Given the description of an element on the screen output the (x, y) to click on. 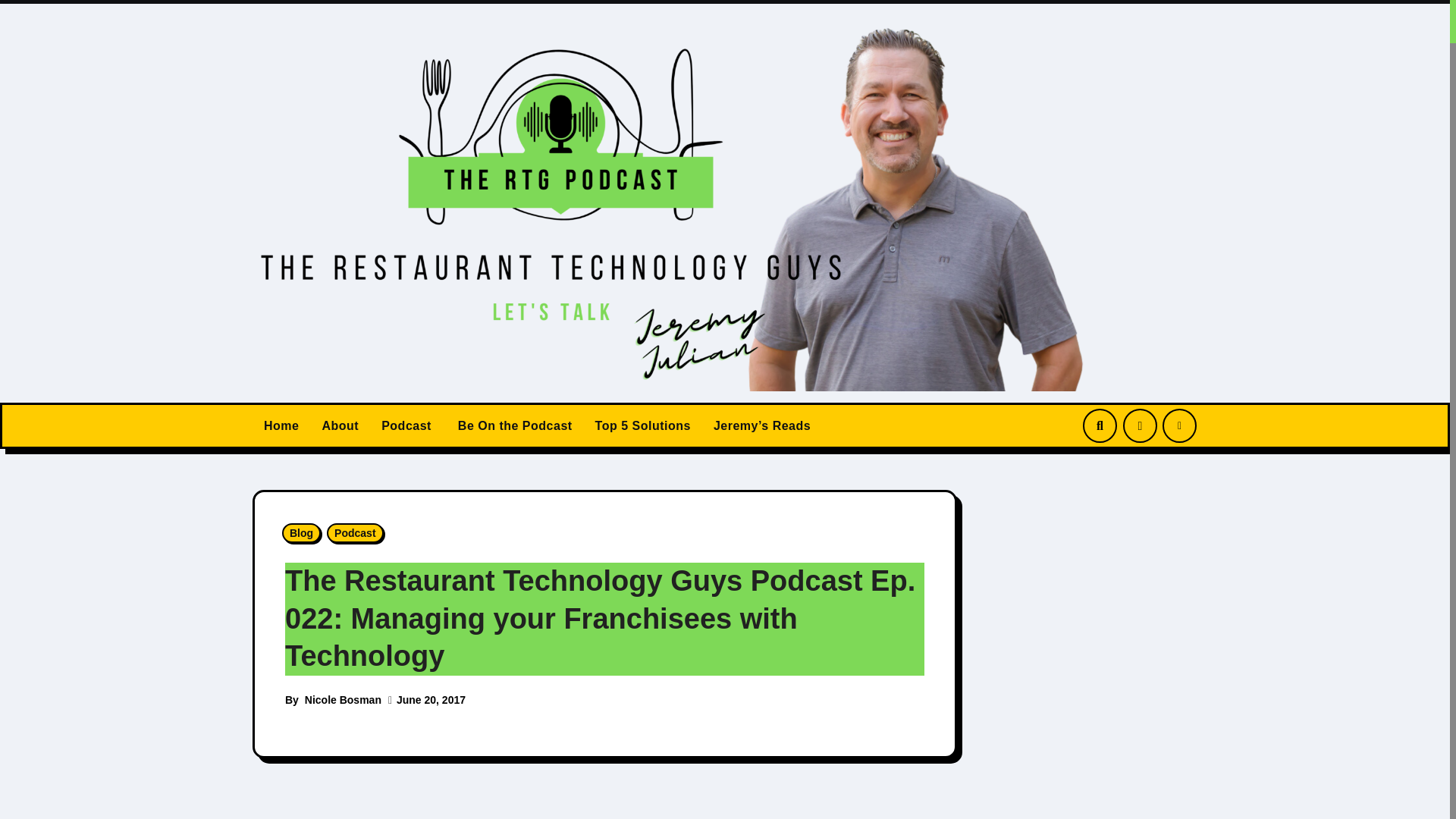
Be On The Podcast (512, 426)
Podcast (405, 426)
June 20, 2017 (430, 699)
About (339, 426)
About (339, 426)
Top 5 Solutions (642, 426)
Home (280, 426)
Top 5 Solutions (642, 426)
Nicole Bosman (342, 699)
 Be On the Podcast (512, 426)
